Given the description of an element on the screen output the (x, y) to click on. 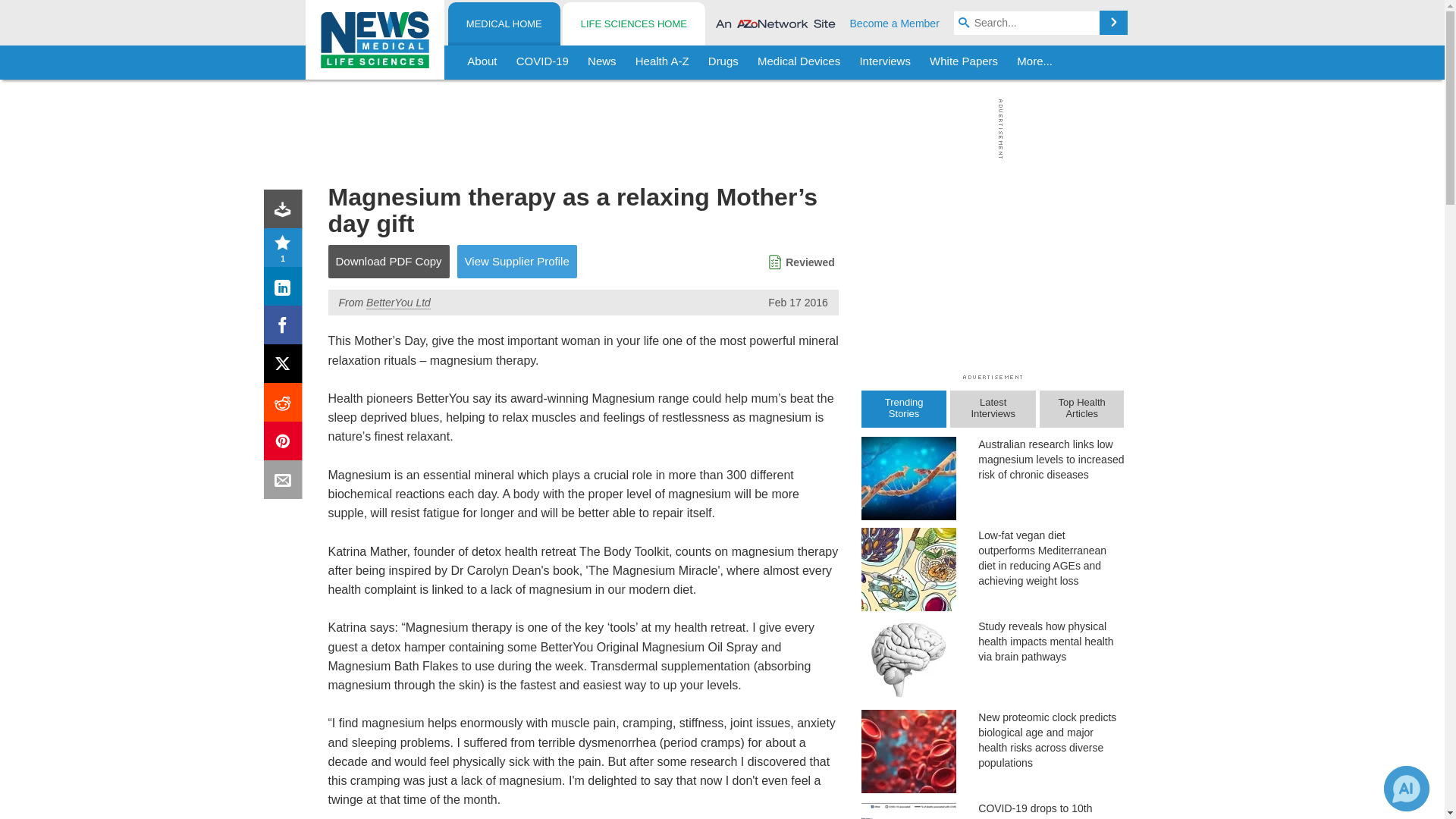
Facebook (285, 328)
LIFE SCIENCES HOME (633, 23)
About (482, 62)
Drugs (722, 62)
Search (1112, 22)
Health A-Z (662, 62)
White Papers (963, 62)
Medical Devices (798, 62)
Interviews (884, 62)
